Given the description of an element on the screen output the (x, y) to click on. 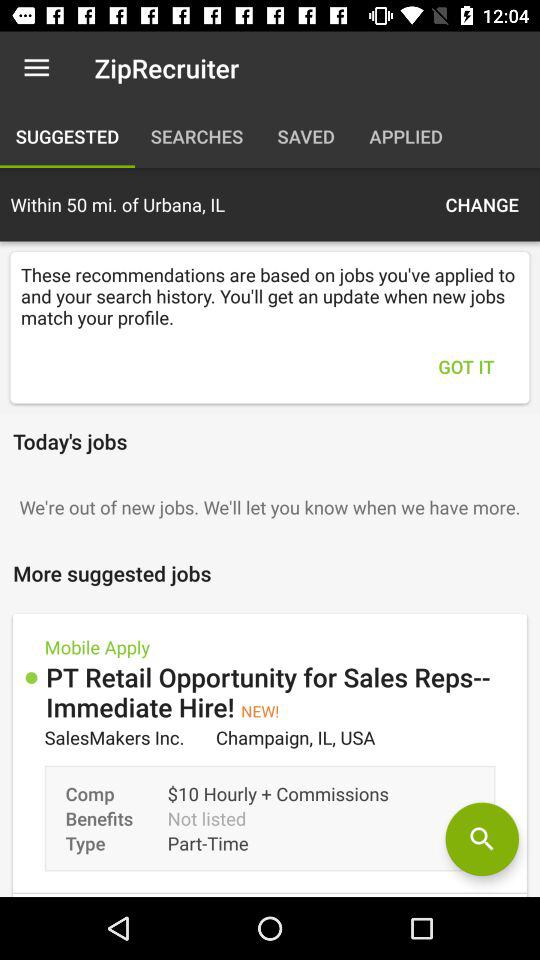
search (482, 839)
